Given the description of an element on the screen output the (x, y) to click on. 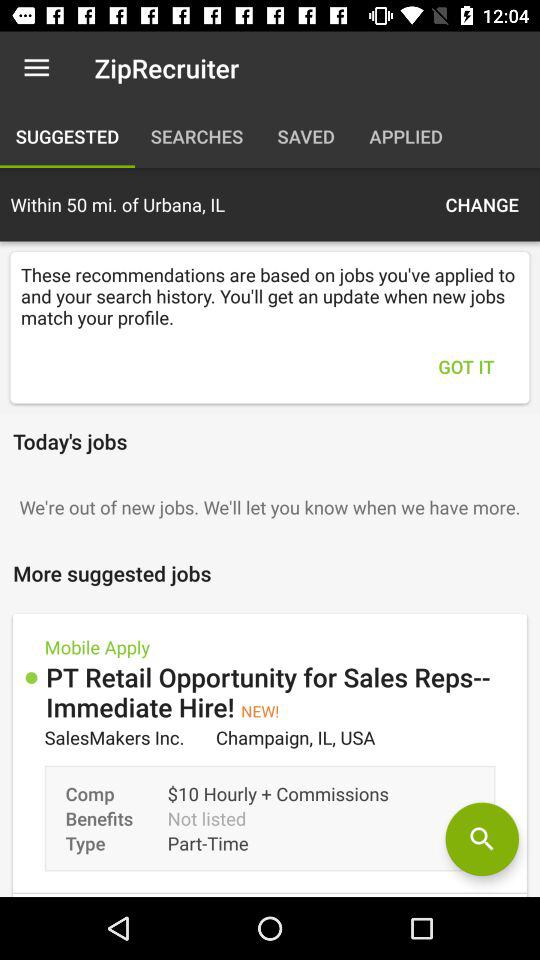
search (482, 839)
